Given the description of an element on the screen output the (x, y) to click on. 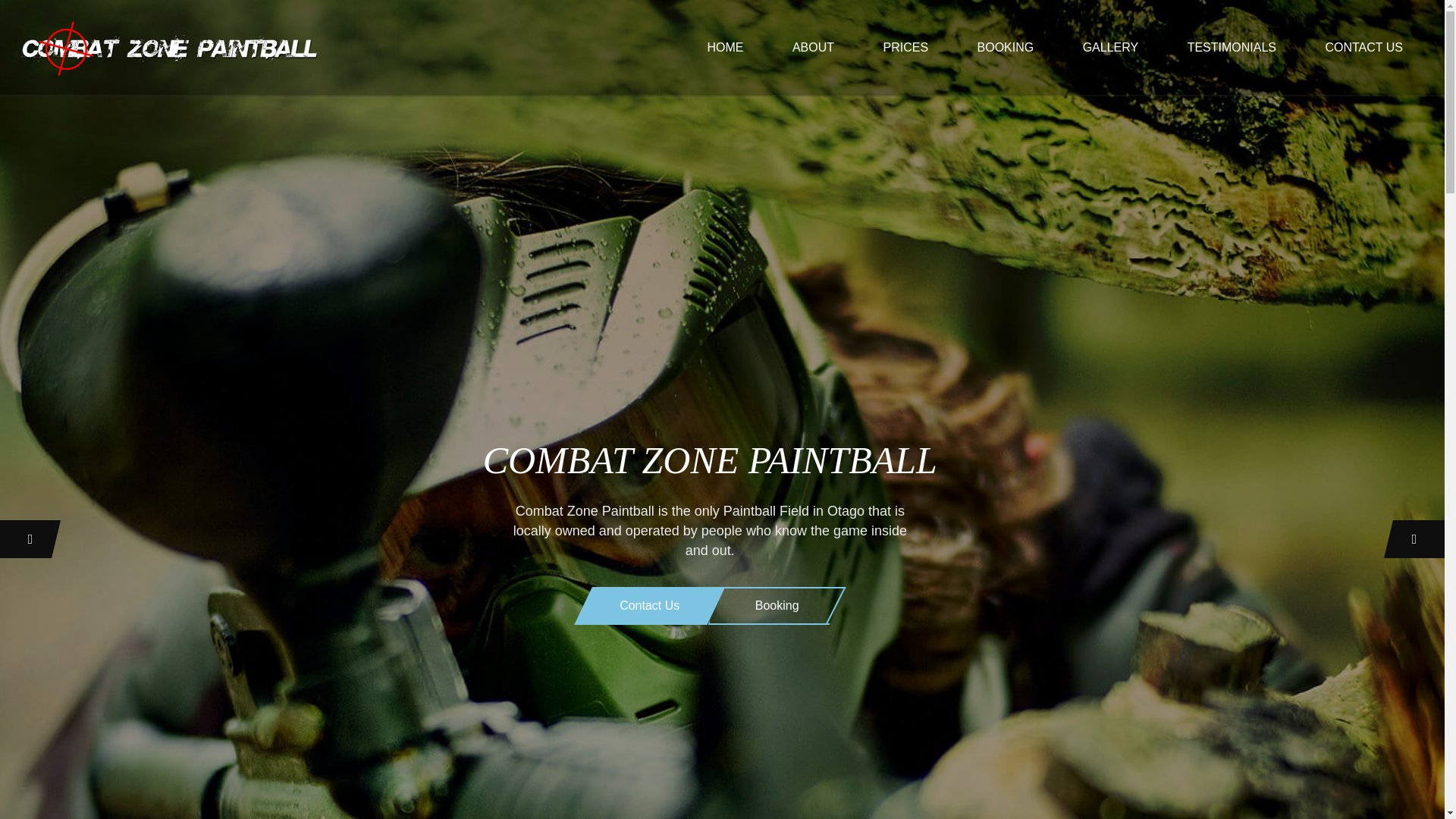
ABOUT (812, 47)
GALLERY (1110, 47)
CONTACT US (1363, 47)
Prev (30, 538)
price (904, 47)
booking (1005, 47)
Booking (776, 618)
gallery (1110, 47)
PRICES (904, 47)
about (812, 47)
home (725, 47)
Contact Us (649, 619)
BOOKING (1005, 47)
TESTIMONIALS (1231, 47)
testimonials (1231, 47)
